Given the description of an element on the screen output the (x, y) to click on. 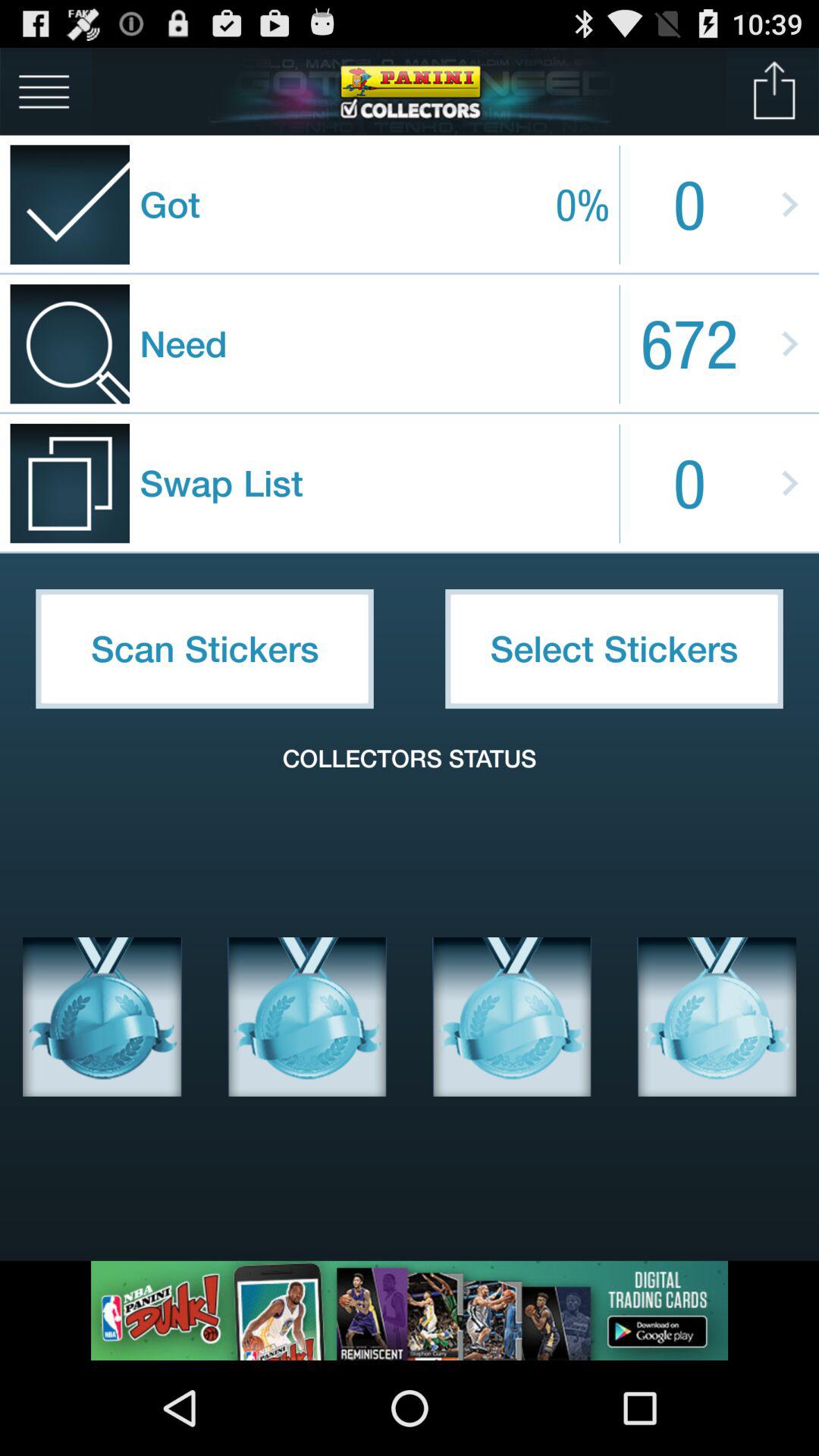
view medal (306, 1016)
